Given the description of an element on the screen output the (x, y) to click on. 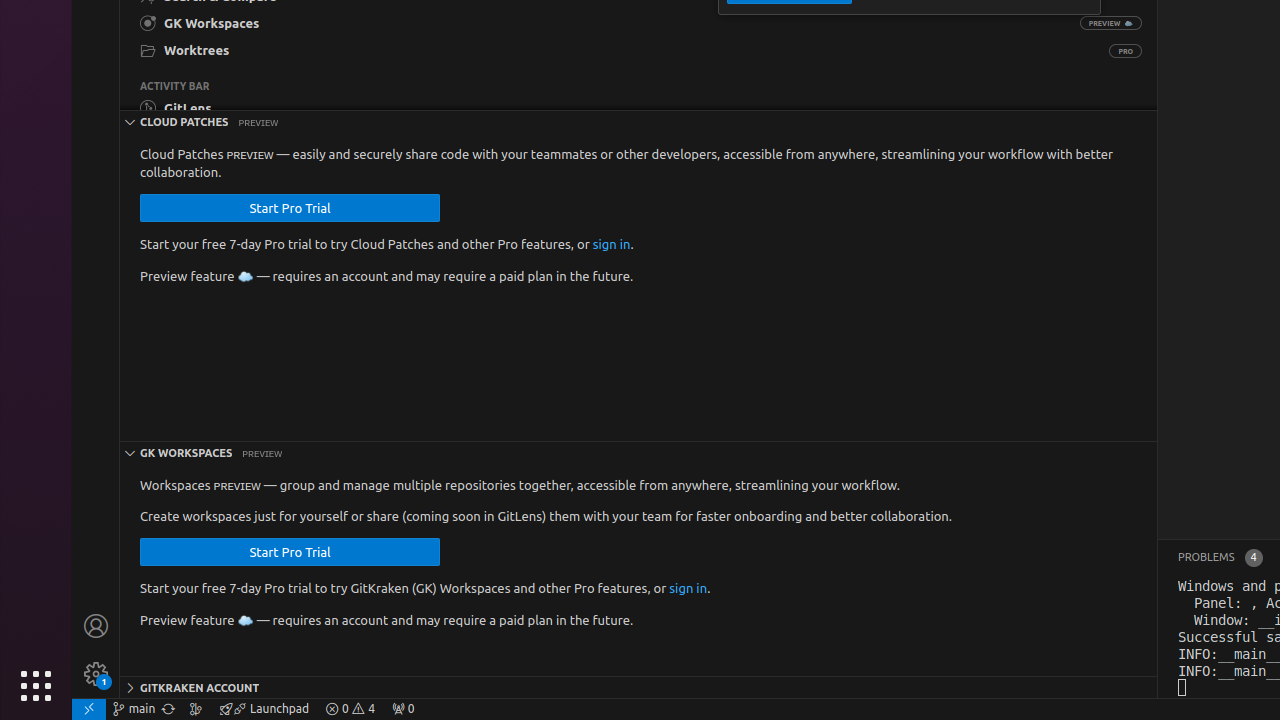
No Ports Forwarded Element type: push-button (403, 709)
Manage - New Code update available. Element type: push-button (96, 674)
GK Workspaces Section Element type: push-button (638, 452)
sign in Element type: push-button (611, 244)
